Given the description of an element on the screen output the (x, y) to click on. 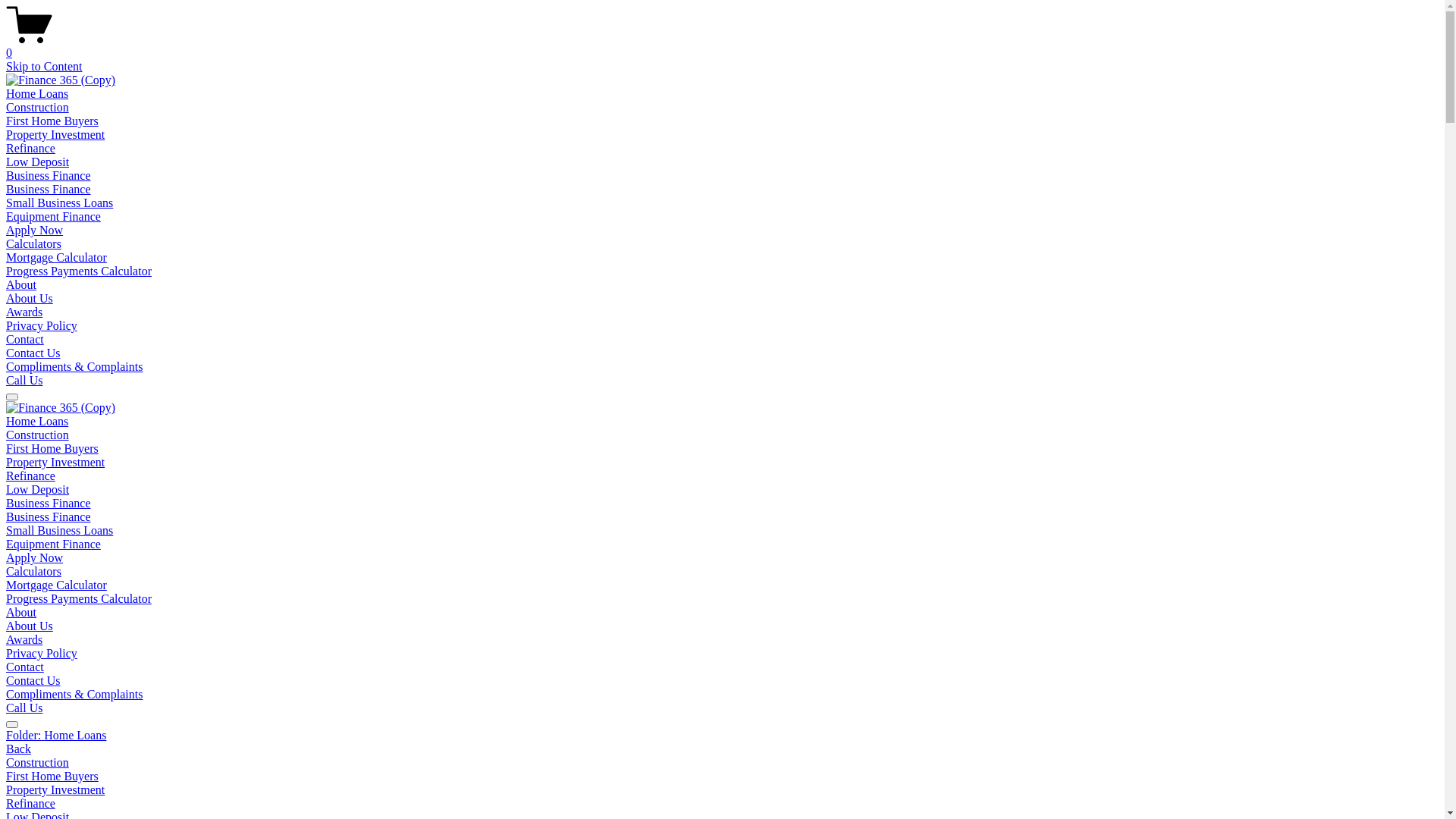
Home Loans Element type: text (37, 420)
First Home Buyers Element type: text (52, 448)
Business Finance Element type: text (48, 516)
First Home Buyers Element type: text (52, 120)
About Element type: text (21, 284)
Construction Element type: text (37, 434)
Business Finance Element type: text (48, 502)
Privacy Policy Element type: text (41, 325)
Contact Element type: text (24, 666)
About Element type: text (21, 611)
Refinance Element type: text (30, 475)
Construction Element type: text (722, 762)
Apply Now Element type: text (34, 229)
Refinance Element type: text (30, 147)
Equipment Finance Element type: text (53, 543)
About Us Element type: text (29, 625)
Progress Payments Calculator Element type: text (78, 598)
Folder: Home Loans Element type: text (722, 735)
About Us Element type: text (29, 297)
Business Finance Element type: text (48, 175)
Compliments & Complaints Element type: text (74, 693)
Back Element type: text (18, 748)
Low Deposit Element type: text (37, 161)
Contact Us Element type: text (33, 680)
Low Deposit Element type: text (37, 489)
0 Element type: text (722, 45)
Apply Now Element type: text (34, 557)
Small Business Loans Element type: text (59, 202)
Mortgage Calculator Element type: text (56, 257)
Property Investment Element type: text (55, 134)
Contact Element type: text (24, 338)
Business Finance Element type: text (48, 188)
First Home Buyers Element type: text (722, 776)
Calculators Element type: text (33, 570)
Mortgage Calculator Element type: text (56, 584)
Privacy Policy Element type: text (41, 652)
Progress Payments Calculator Element type: text (78, 270)
Awards Element type: text (24, 311)
Skip to Content Element type: text (43, 65)
Refinance Element type: text (722, 803)
Call Us Element type: text (24, 707)
Awards Element type: text (24, 639)
Compliments & Complaints Element type: text (74, 366)
Construction Element type: text (37, 106)
Calculators Element type: text (33, 243)
Home Loans Element type: text (37, 93)
Small Business Loans Element type: text (59, 530)
Property Investment Element type: text (722, 790)
Equipment Finance Element type: text (53, 216)
Call Us Element type: text (24, 379)
Property Investment Element type: text (55, 461)
Contact Us Element type: text (33, 352)
